Given the description of an element on the screen output the (x, y) to click on. 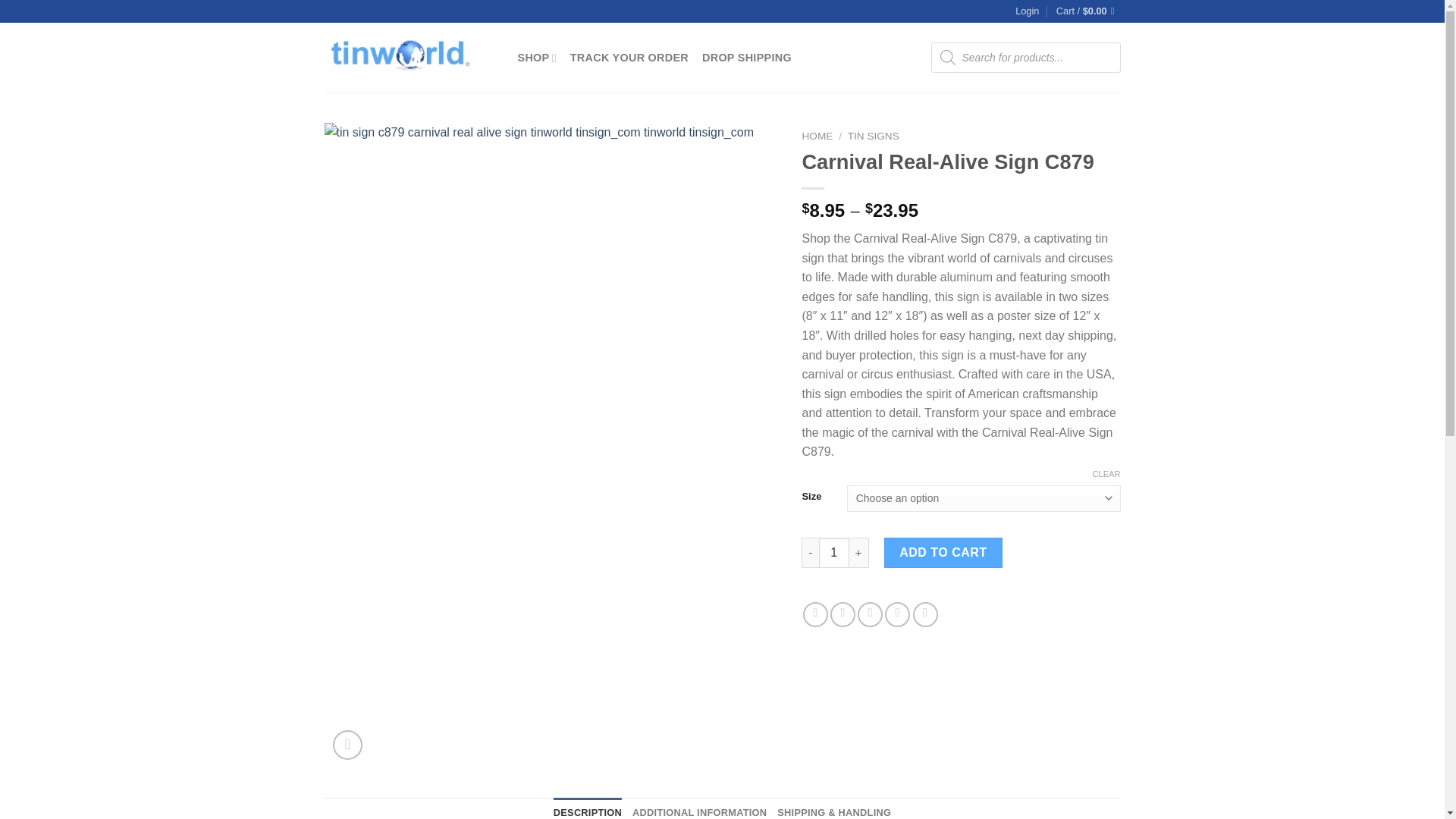
Cart (1089, 11)
Pin on Pinterest (897, 614)
1 (833, 552)
Login (1026, 11)
DROP SHIPPING (746, 57)
Share on Twitter (842, 614)
TinWorld - Collectible signs at competitive prices (409, 57)
Email to a Friend (869, 614)
Share on Facebook (815, 614)
Zoom (347, 745)
Qty (833, 552)
TRACK YOUR ORDER (629, 57)
Share on LinkedIn (924, 614)
SHOP (536, 57)
